Given the description of an element on the screen output the (x, y) to click on. 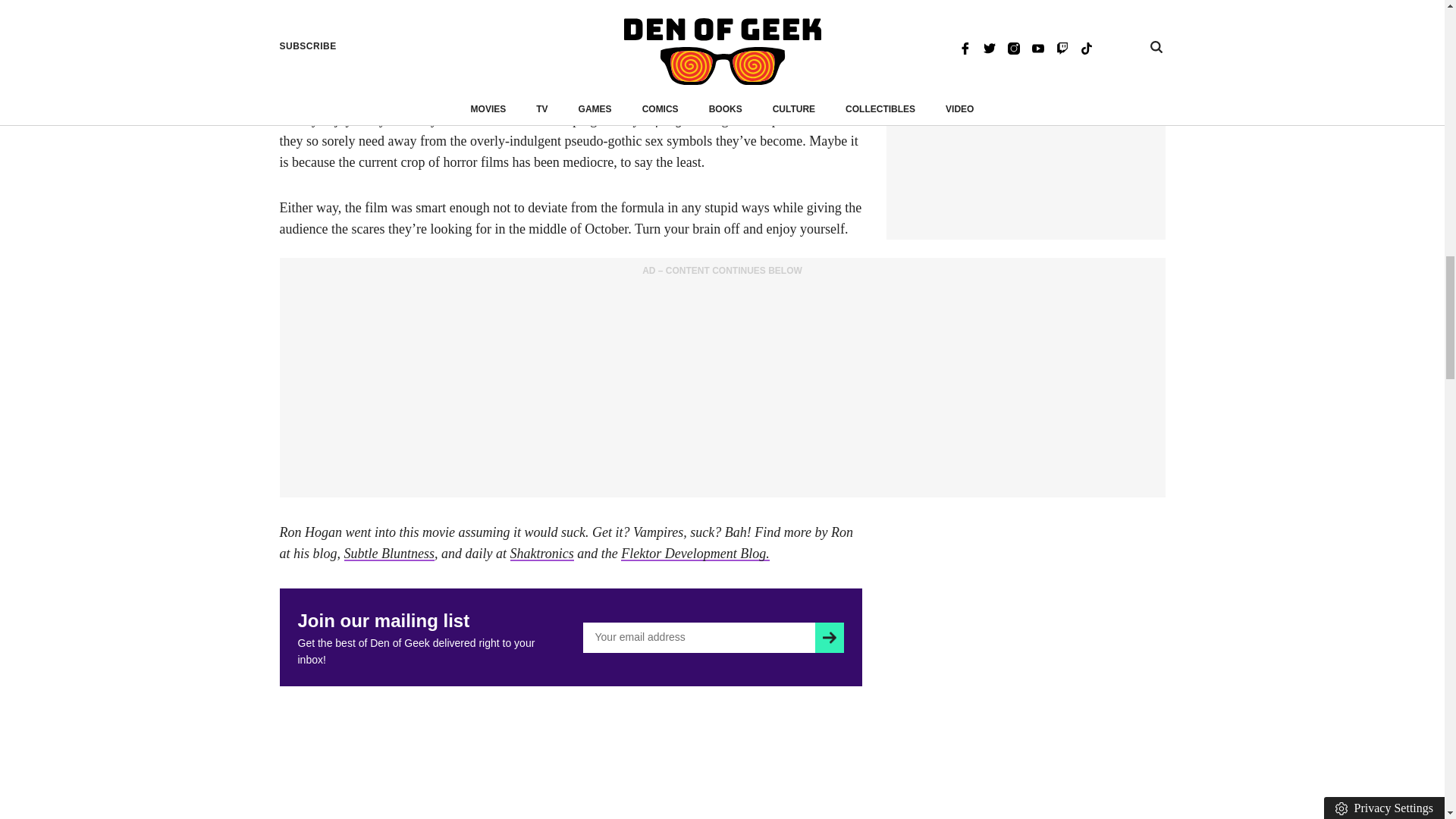
Subscribe (829, 637)
Subtle Bluntness (389, 553)
Shaktronics (542, 553)
Flektor Development Blog. (694, 553)
